Given the description of an element on the screen output the (x, y) to click on. 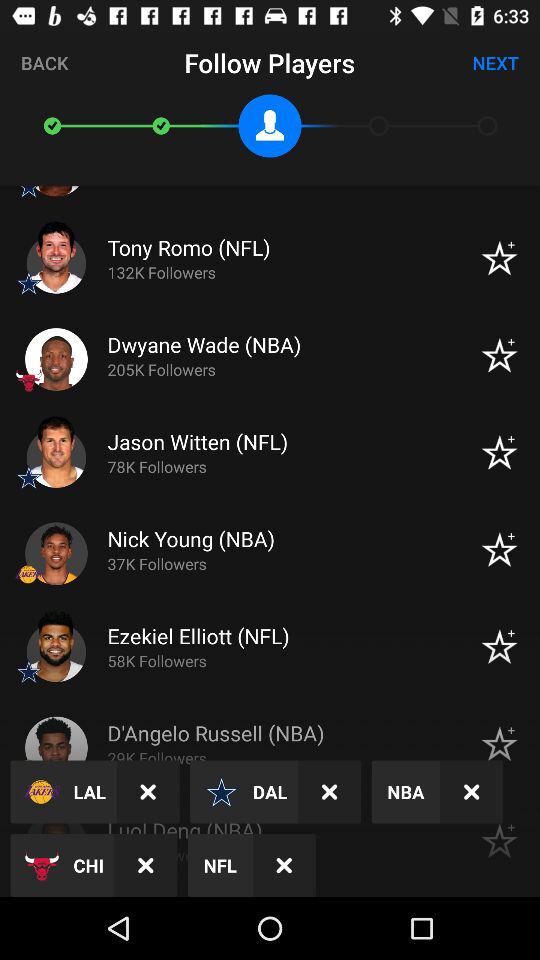
turn on icon next to the dal item (329, 791)
